Given the description of an element on the screen output the (x, y) to click on. 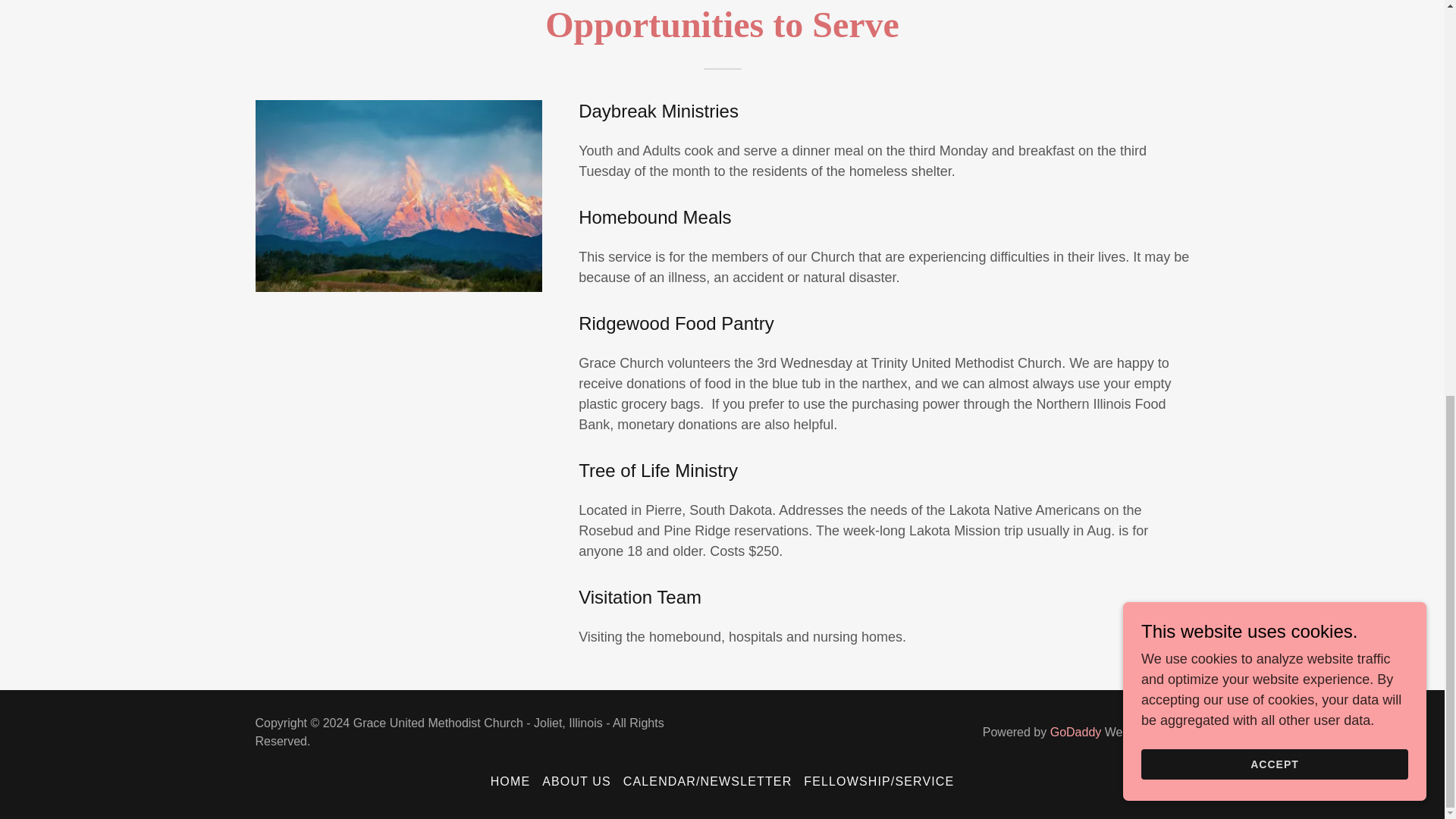
GoDaddy (1075, 731)
HOME (510, 781)
ABOUT US (576, 781)
ACCEPT (1274, 6)
